Given the description of an element on the screen output the (x, y) to click on. 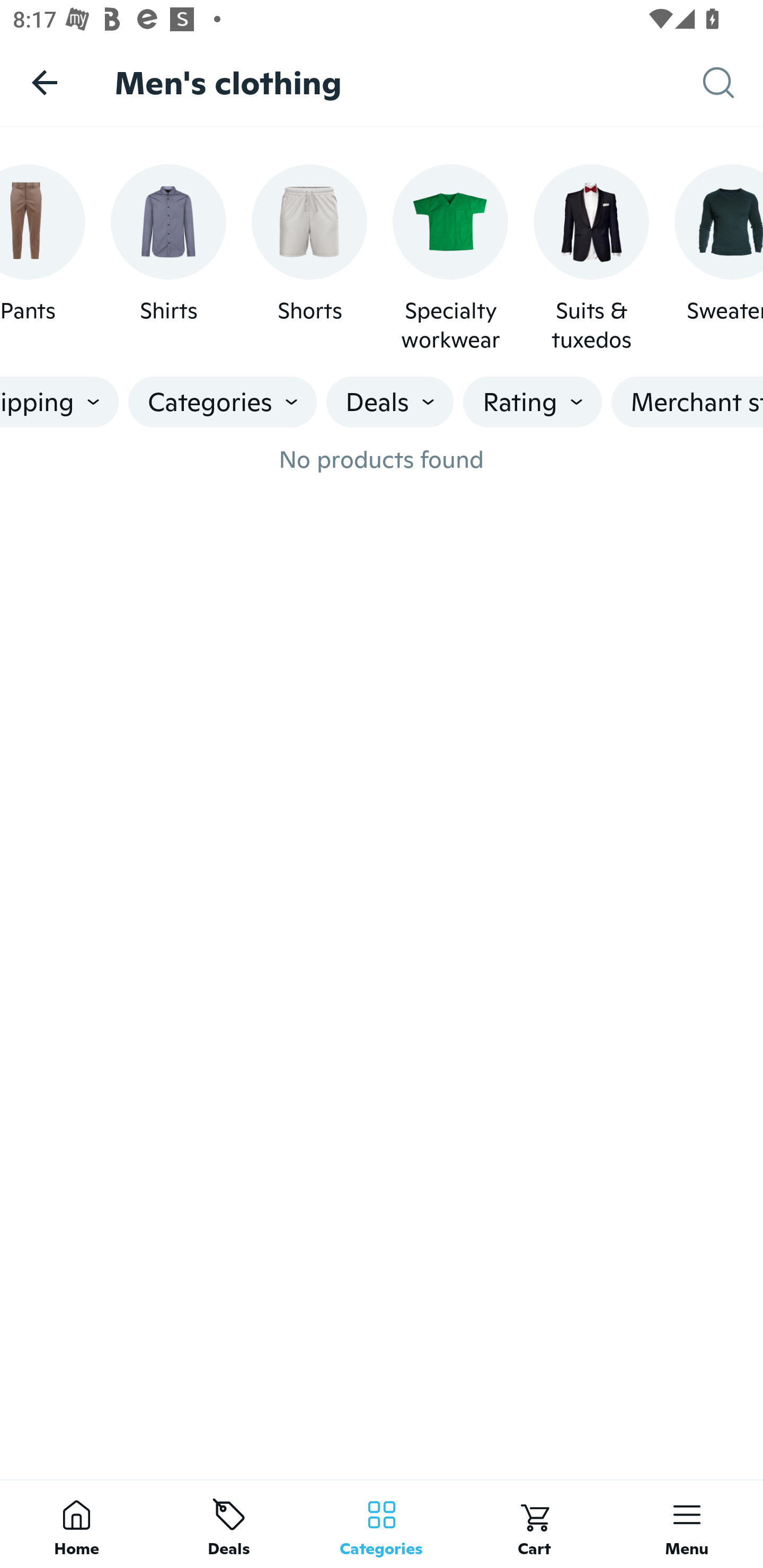
Navigate up (44, 82)
Search (732, 82)
Pants (42, 259)
Shirts (168, 259)
Shorts (309, 259)
Specialty workwear (450, 259)
Suits & tuxedos (591, 259)
Sweaters (718, 259)
Shipping (59, 402)
Categories (222, 402)
Deals (389, 402)
Rating (532, 402)
Home (76, 1523)
Deals (228, 1523)
Categories (381, 1523)
Cart (533, 1523)
Menu (686, 1523)
